Given the description of an element on the screen output the (x, y) to click on. 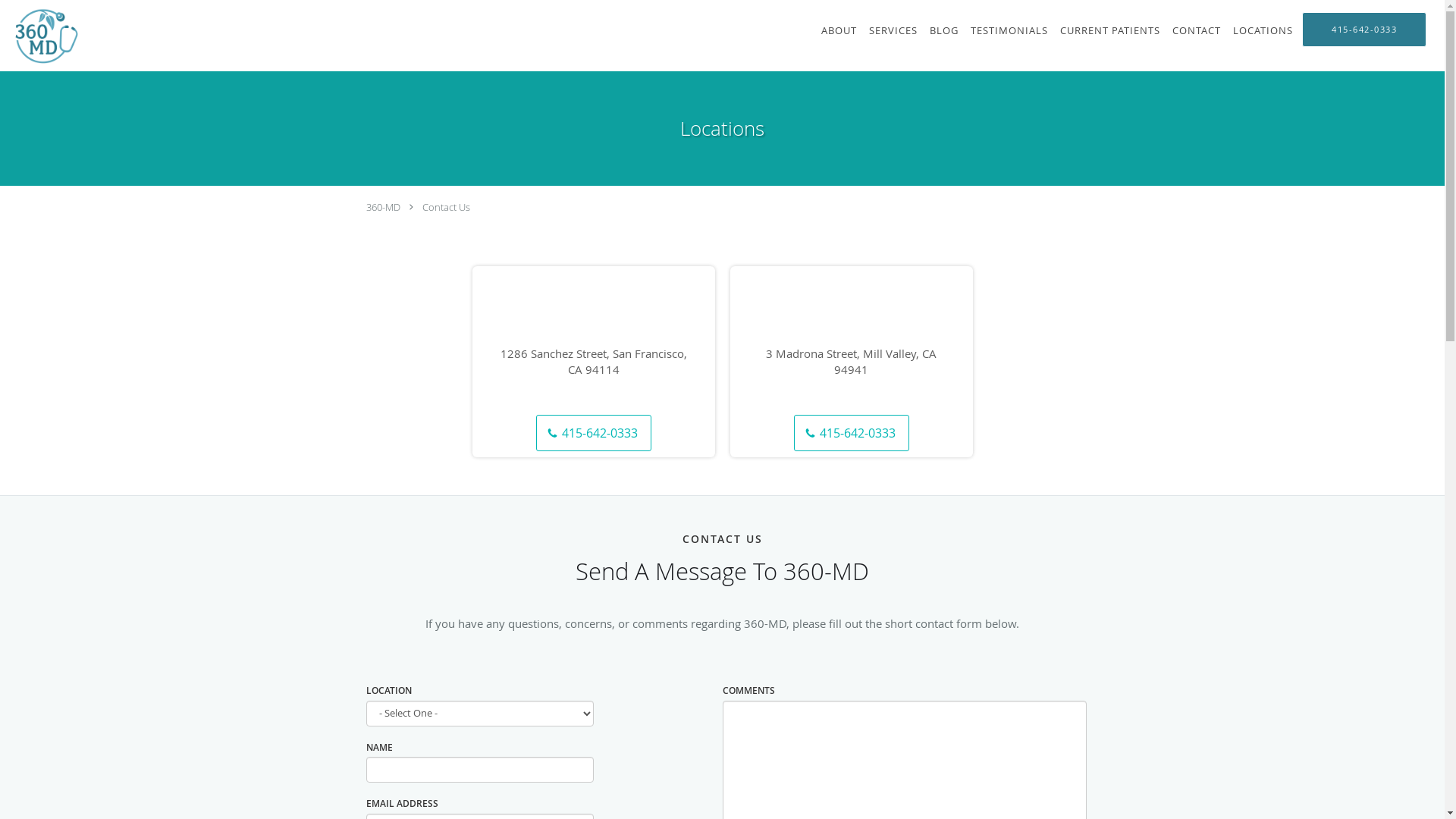
360-MD Element type: text (382, 206)
TESTIMONIALS Element type: text (1009, 30)
415-642-0333 Element type: text (593, 432)
BLOG Element type: text (943, 30)
LOCATIONS Element type: text (1262, 30)
Contact Us Element type: text (445, 206)
ABOUT Element type: text (838, 30)
Map of 360-MD Element type: hover (850, 338)
Map of San Francisco Element type: hover (592, 338)
CONTACT Element type: text (1196, 30)
1286 Sanchez Street, San Francisco, CA 94114 Element type: text (593, 361)
SERVICES Element type: text (892, 30)
415-642-0333 Element type: text (1364, 29)
415-642-0333 Element type: text (851, 432)
CURRENT PATIENTS Element type: text (1110, 30)
3 Madrona Street, Mill Valley, CA 94941 Element type: text (851, 361)
